Given the description of an element on the screen output the (x, y) to click on. 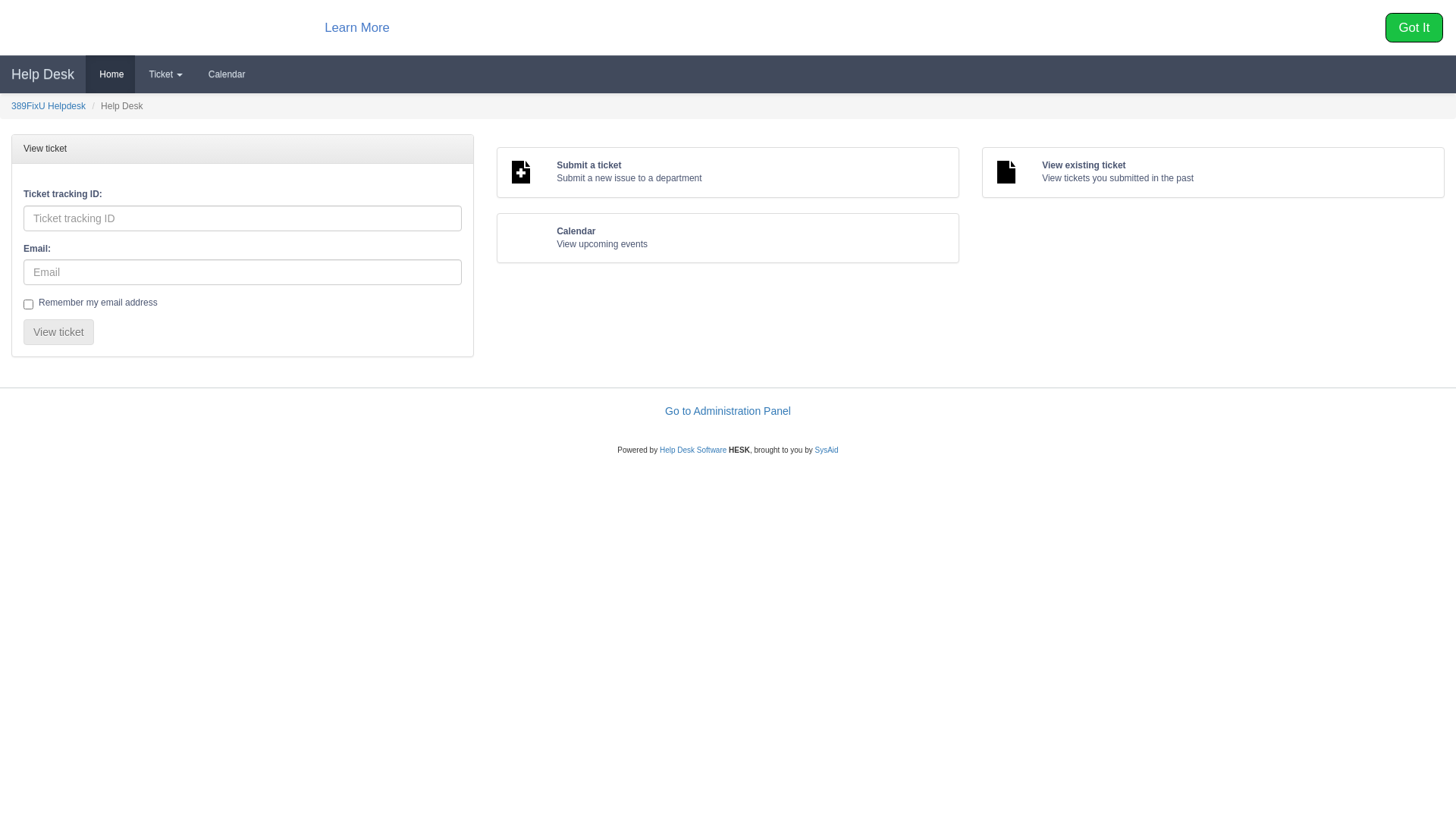
 Home Element type: text (109, 74)
SysAid Element type: text (826, 449)
Calendar
View upcoming events Element type: text (727, 238)
Submit a ticket
Submit a new issue to a department Element type: text (727, 172)
 Calendar Element type: text (225, 74)
Go to Administration Panel Element type: text (727, 410)
View existing ticket
View tickets you submitted in the past Element type: text (1213, 172)
View ticket Element type: text (58, 332)
Got It Element type: text (1414, 27)
Help Desk Element type: text (42, 74)
389FixU Helpdesk Element type: text (48, 105)
Learn More Element type: text (356, 26)
Help Desk Software Element type: text (692, 449)
 Ticket Element type: text (164, 74)
